Given the description of an element on the screen output the (x, y) to click on. 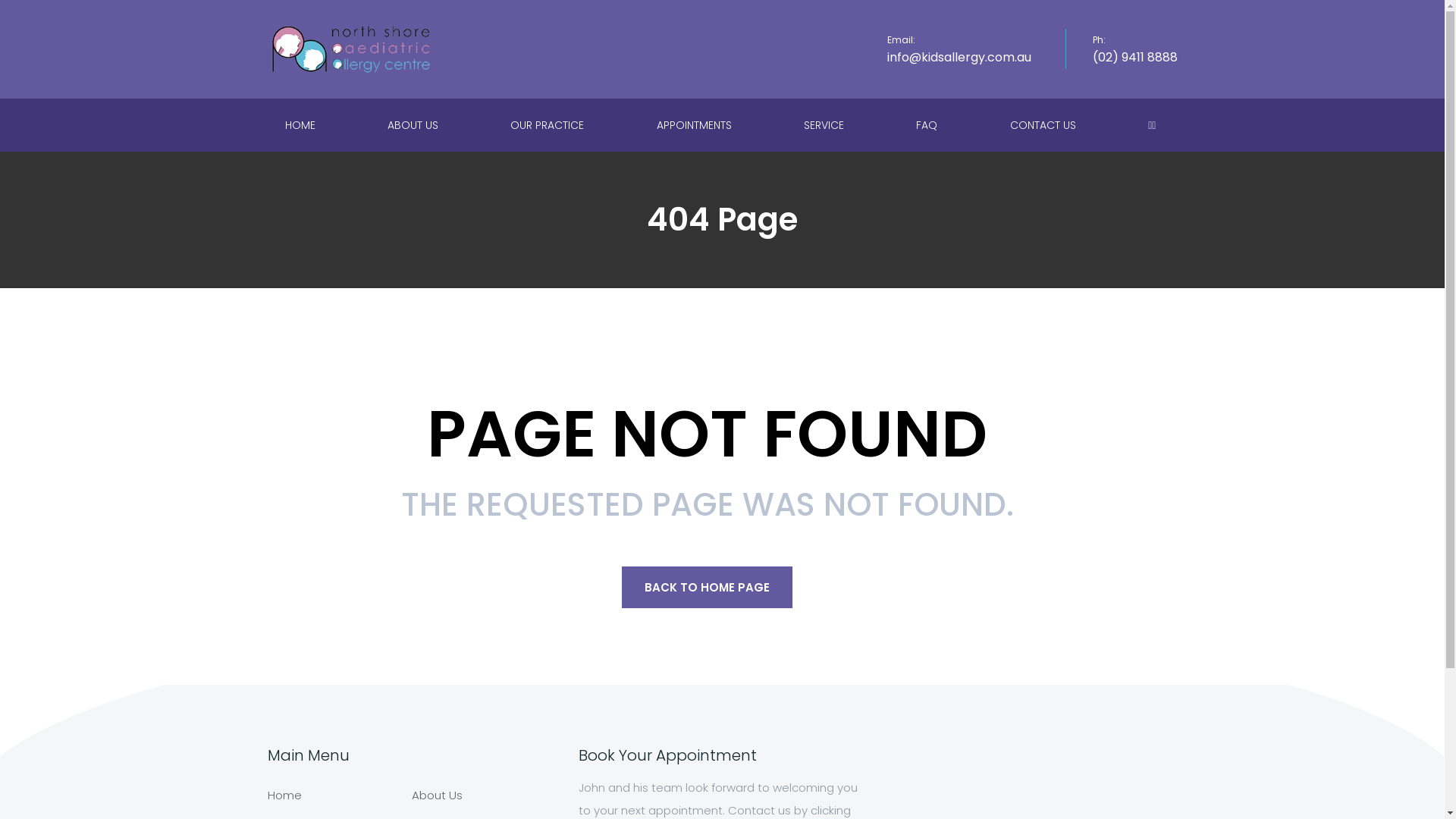
Home Element type: text (283, 795)
SERVICE Element type: text (825, 124)
HOME Element type: text (300, 124)
OUR PRACTICE Element type: text (548, 124)
CONTACT US Element type: text (1044, 124)
ABOUT US Element type: text (414, 124)
FAQ Element type: text (928, 124)
info@kidsallergy.com.au Element type: text (959, 56)
BACK TO HOME PAGE Element type: text (706, 587)
About Us Element type: text (436, 795)
APPOINTMENTS Element type: text (696, 124)
(02) 9411 8888 Element type: text (1134, 56)
404 Page Element type: text (721, 219)
